Given the description of an element on the screen output the (x, y) to click on. 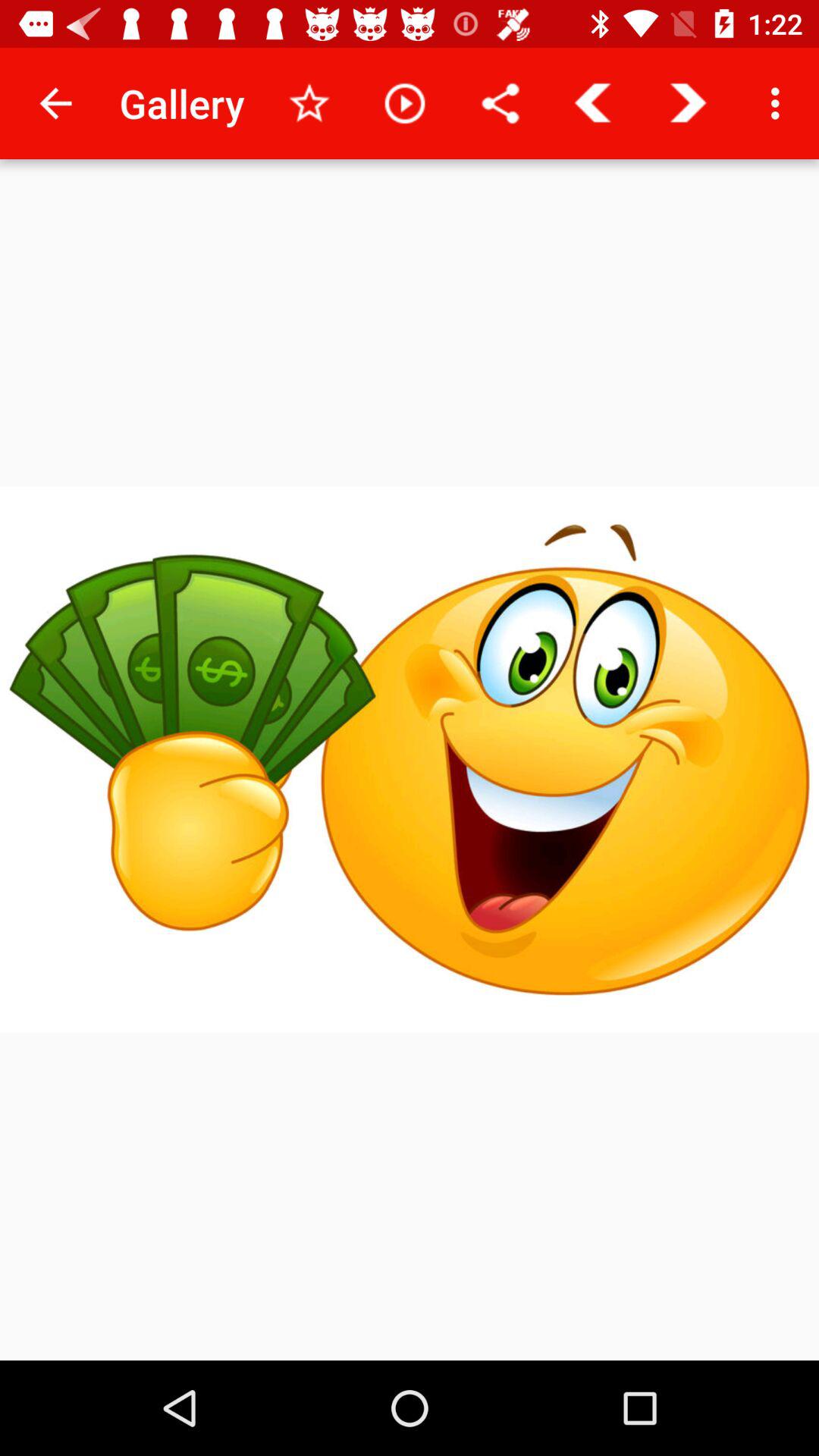
turn on item next to the gallery icon (309, 103)
